Given the description of an element on the screen output the (x, y) to click on. 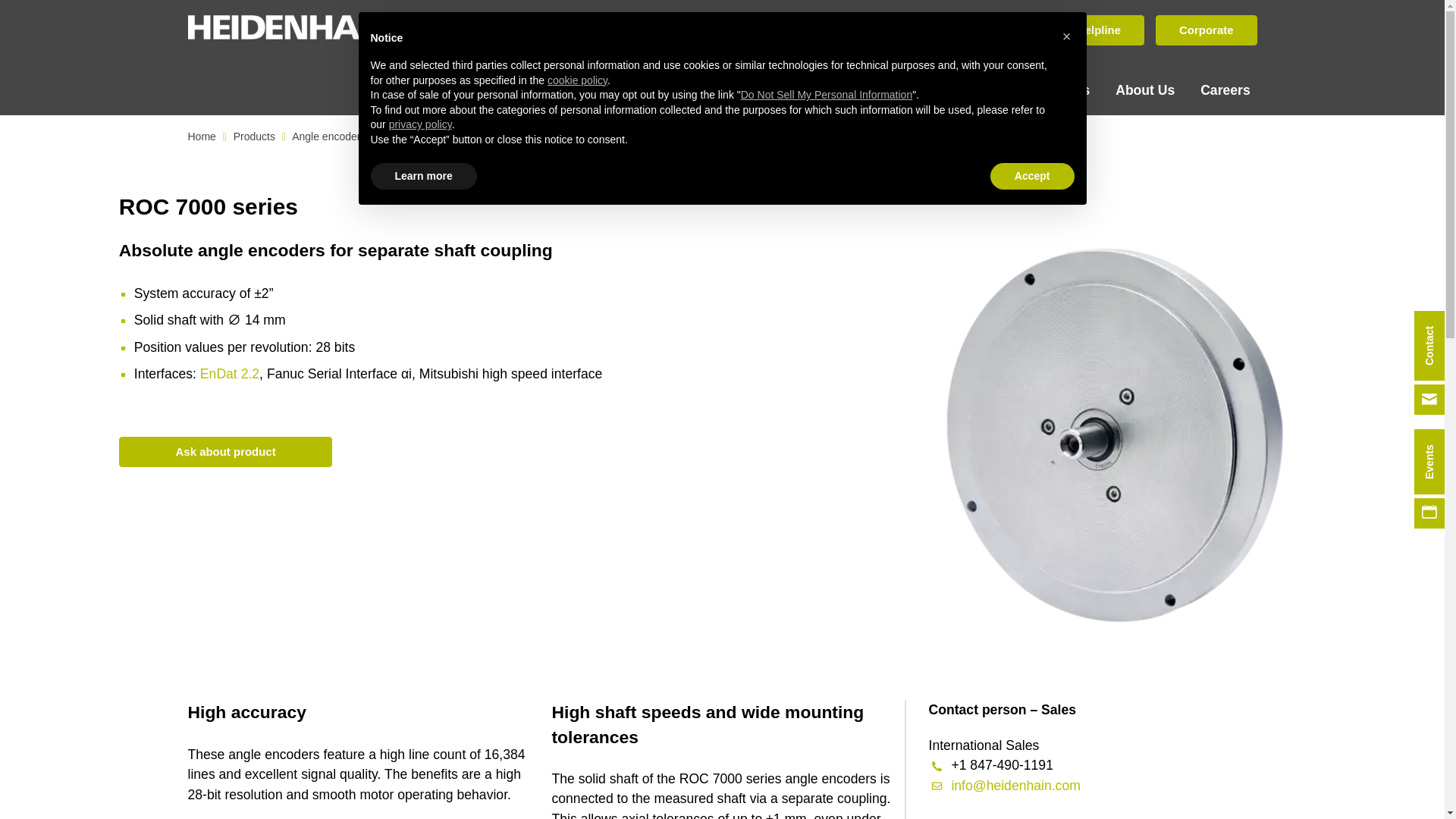
Helpline (1098, 30)
Products (591, 93)
Corporate (1206, 30)
Contact (997, 30)
